Given the description of an element on the screen output the (x, y) to click on. 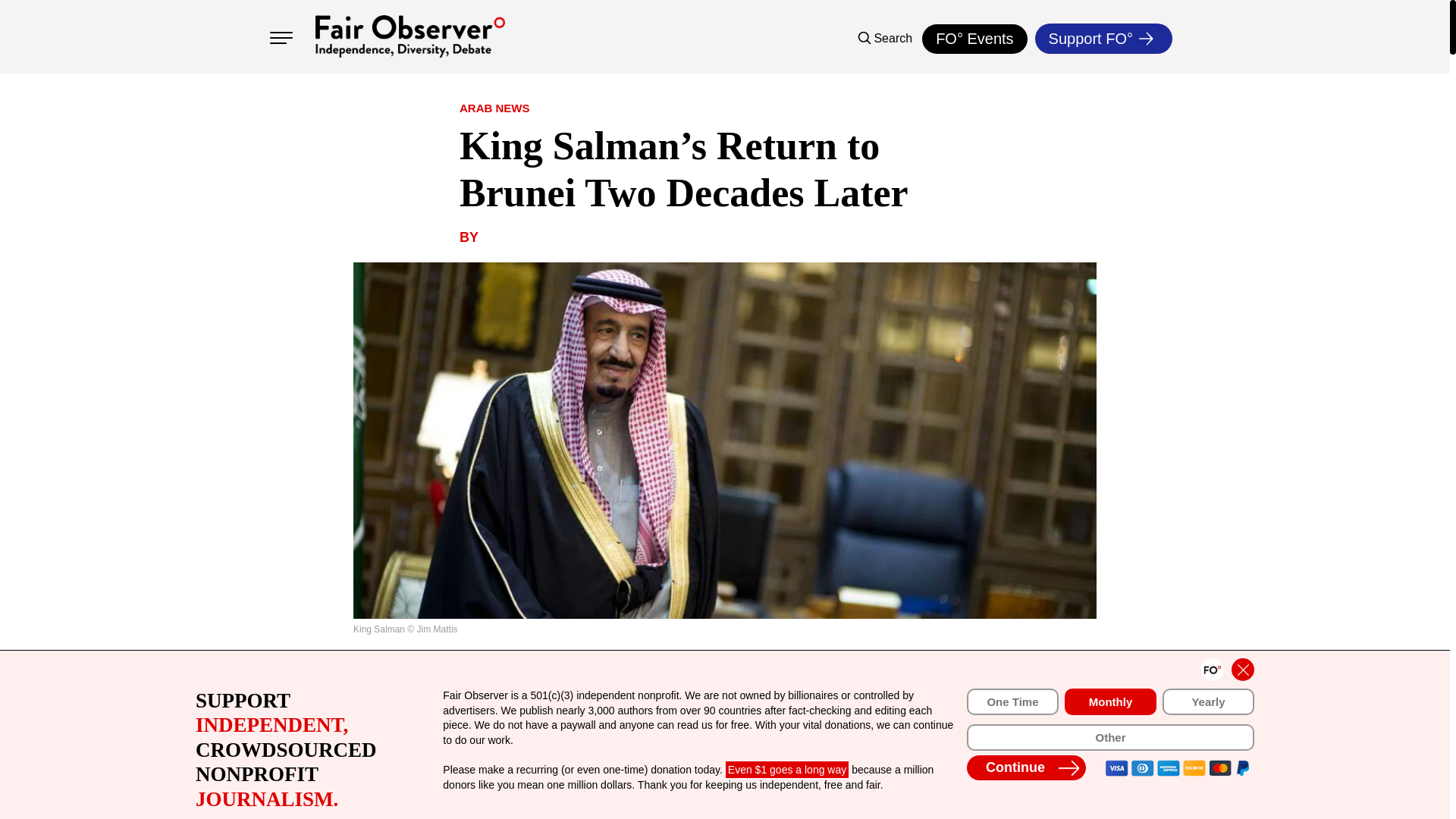
Fair Observer Logo (410, 36)
Arab News (494, 107)
